Given the description of an element on the screen output the (x, y) to click on. 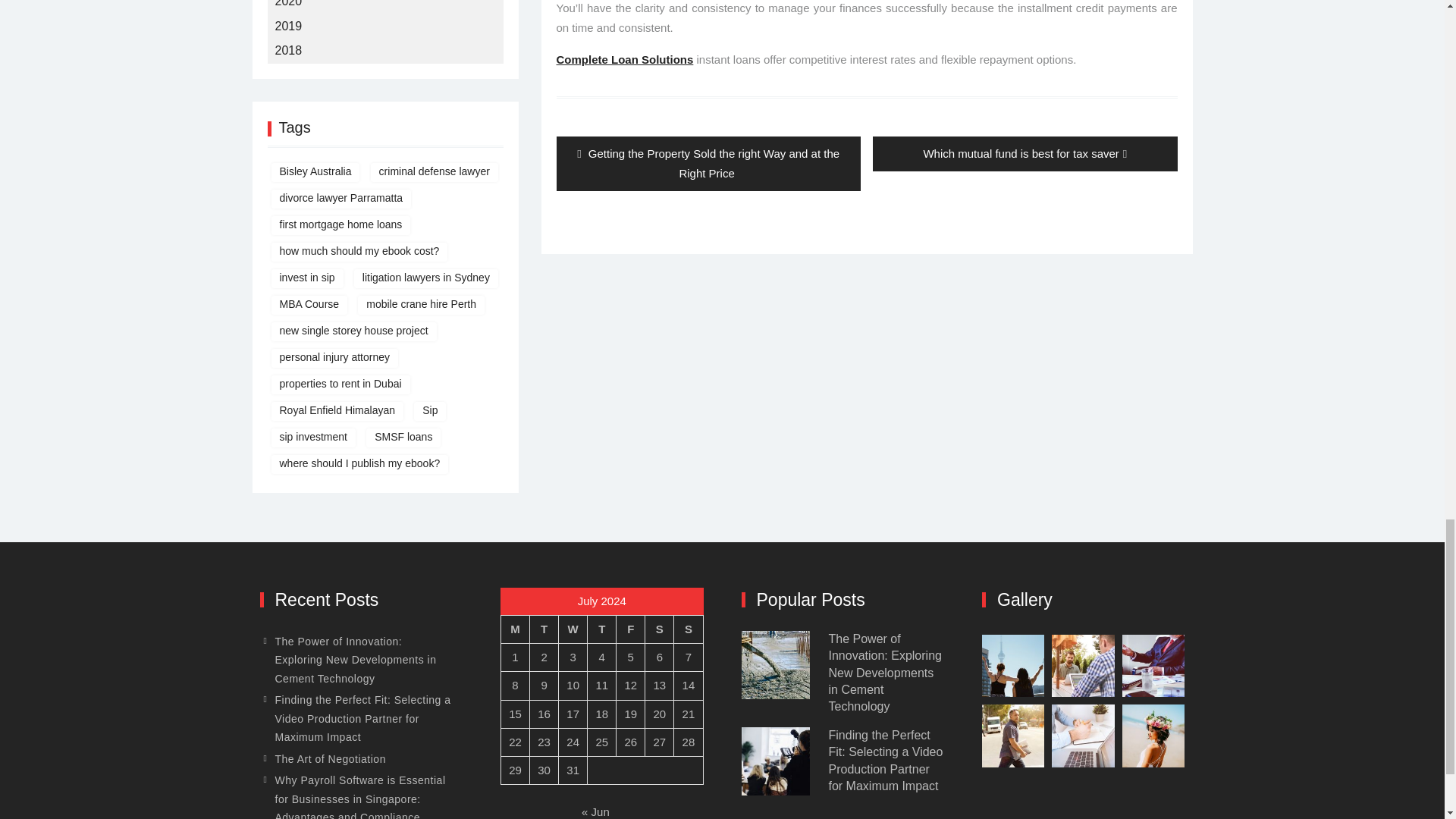
Thursday (601, 628)
Wednesday (573, 628)
Saturday (659, 628)
Friday (630, 628)
Monday (514, 628)
Sunday (688, 628)
Tuesday (544, 628)
